Given the description of an element on the screen output the (x, y) to click on. 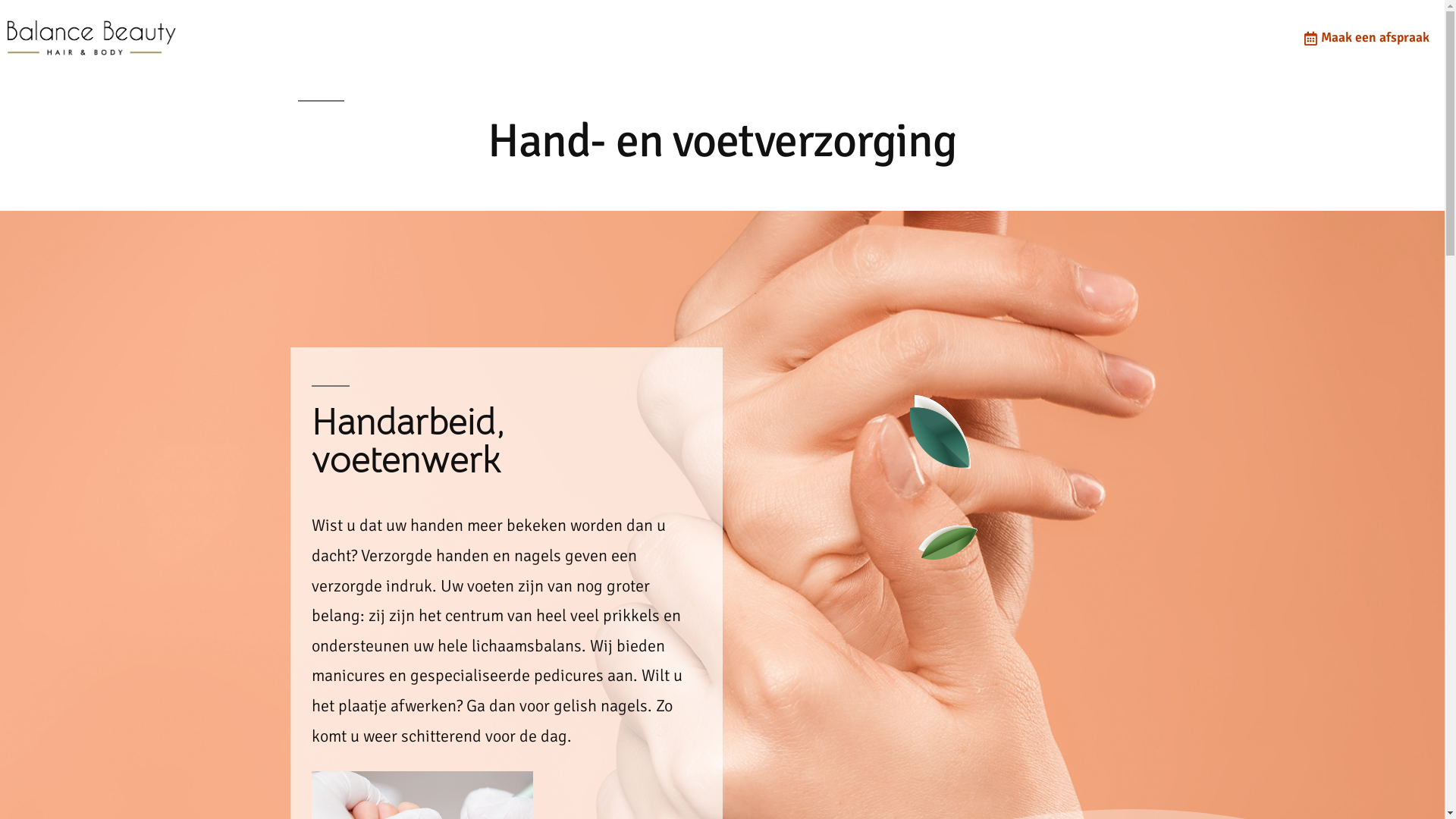
Maak een afspraak Element type: text (1364, 37)
